Given the description of an element on the screen output the (x, y) to click on. 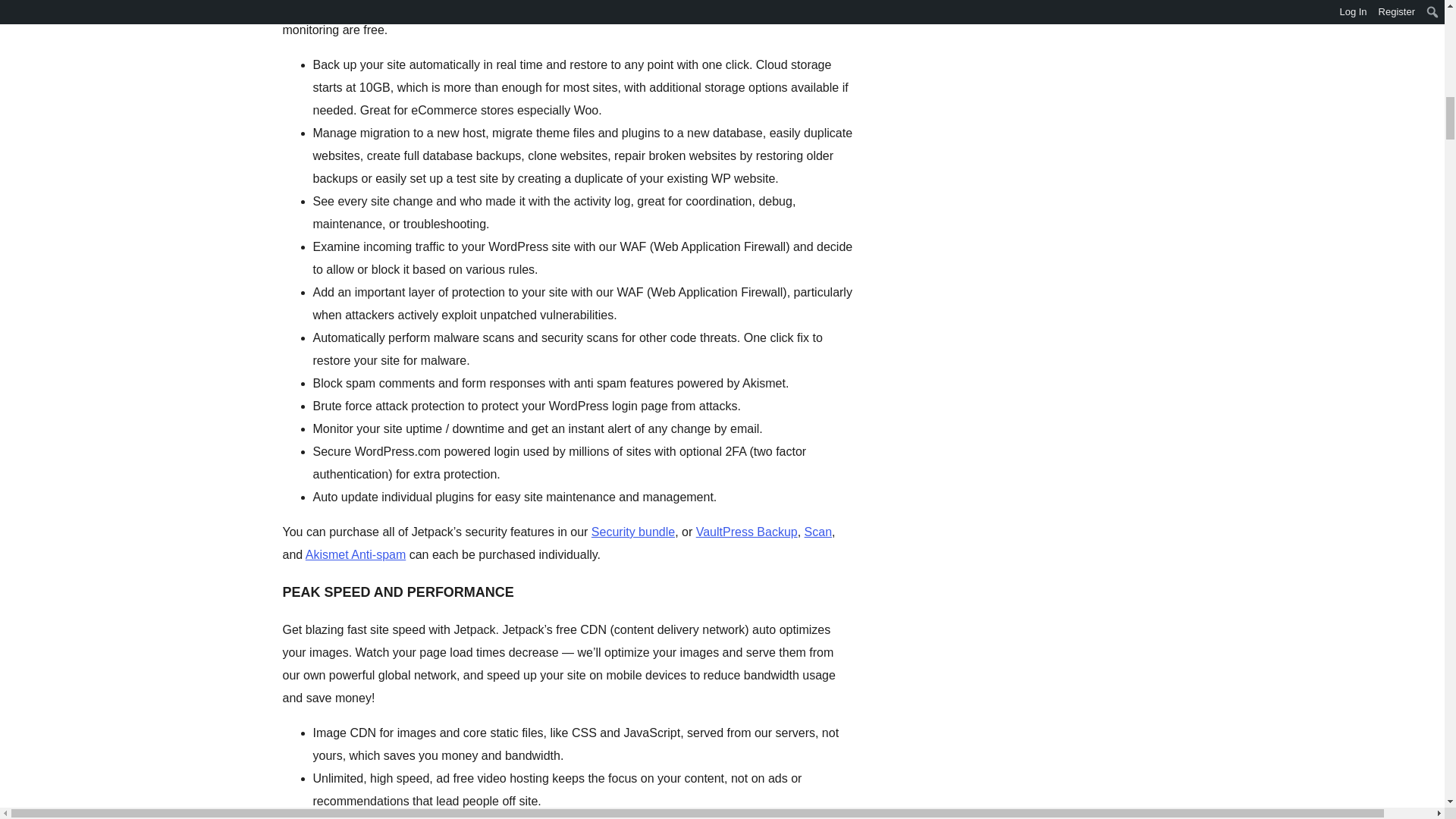
VaultPress Backup (746, 531)
Security bundle (633, 531)
